Given the description of an element on the screen output the (x, y) to click on. 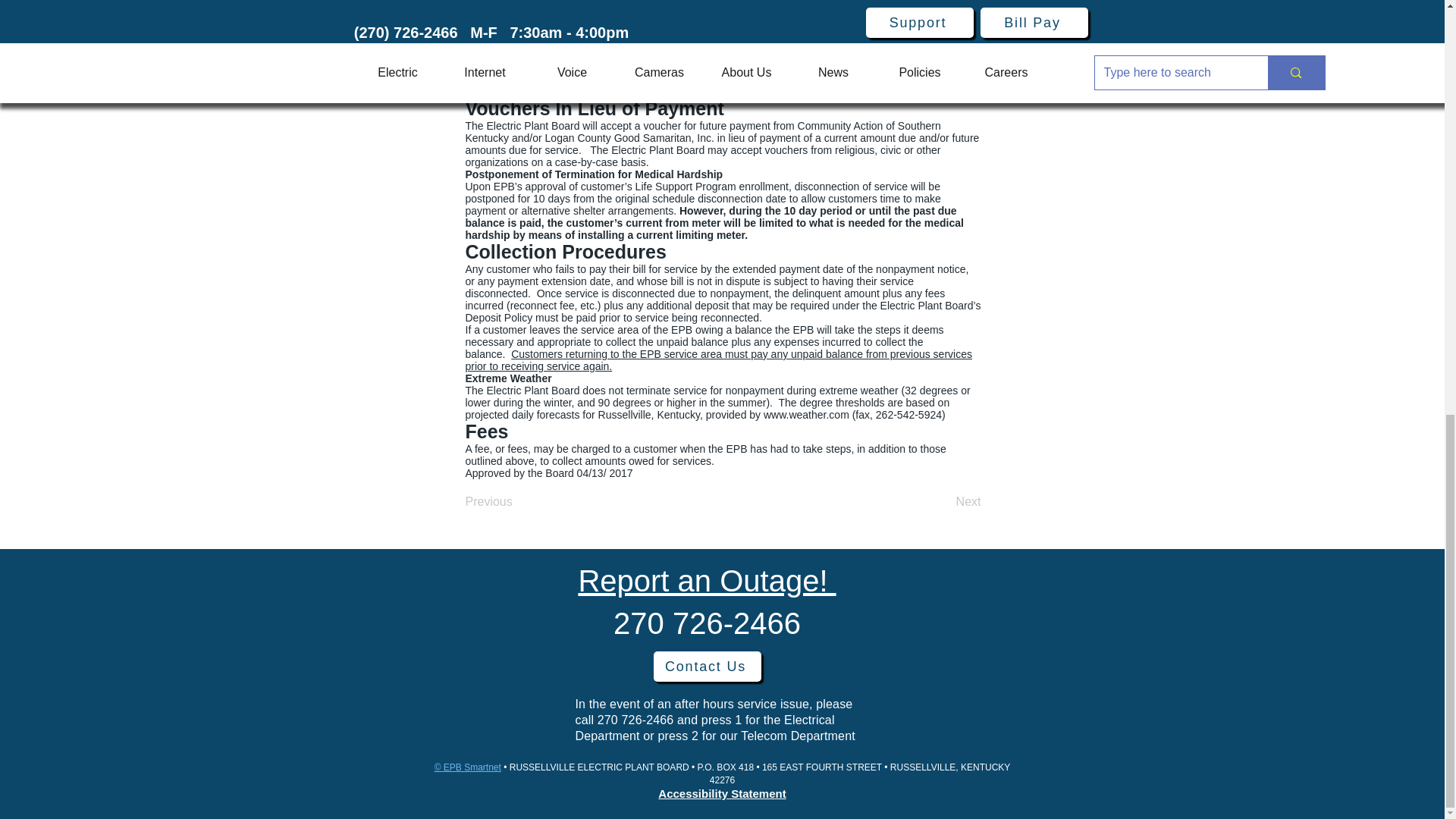
Accessibility Statement (722, 793)
Report an Outage!  (706, 580)
Contact Us (707, 666)
www.weather.com (805, 414)
Previous (515, 501)
Next (943, 501)
